Given the description of an element on the screen output the (x, y) to click on. 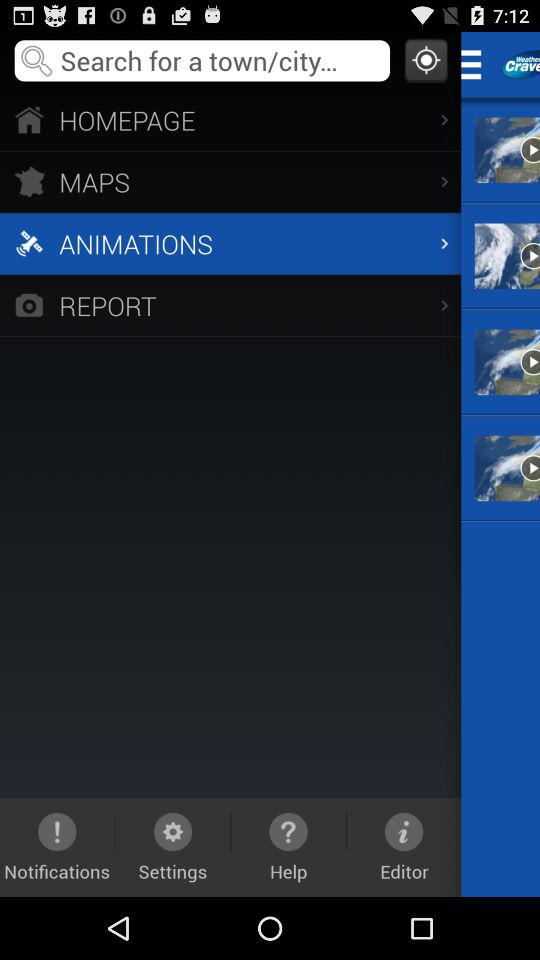
expand menu (477, 63)
